Given the description of an element on the screen output the (x, y) to click on. 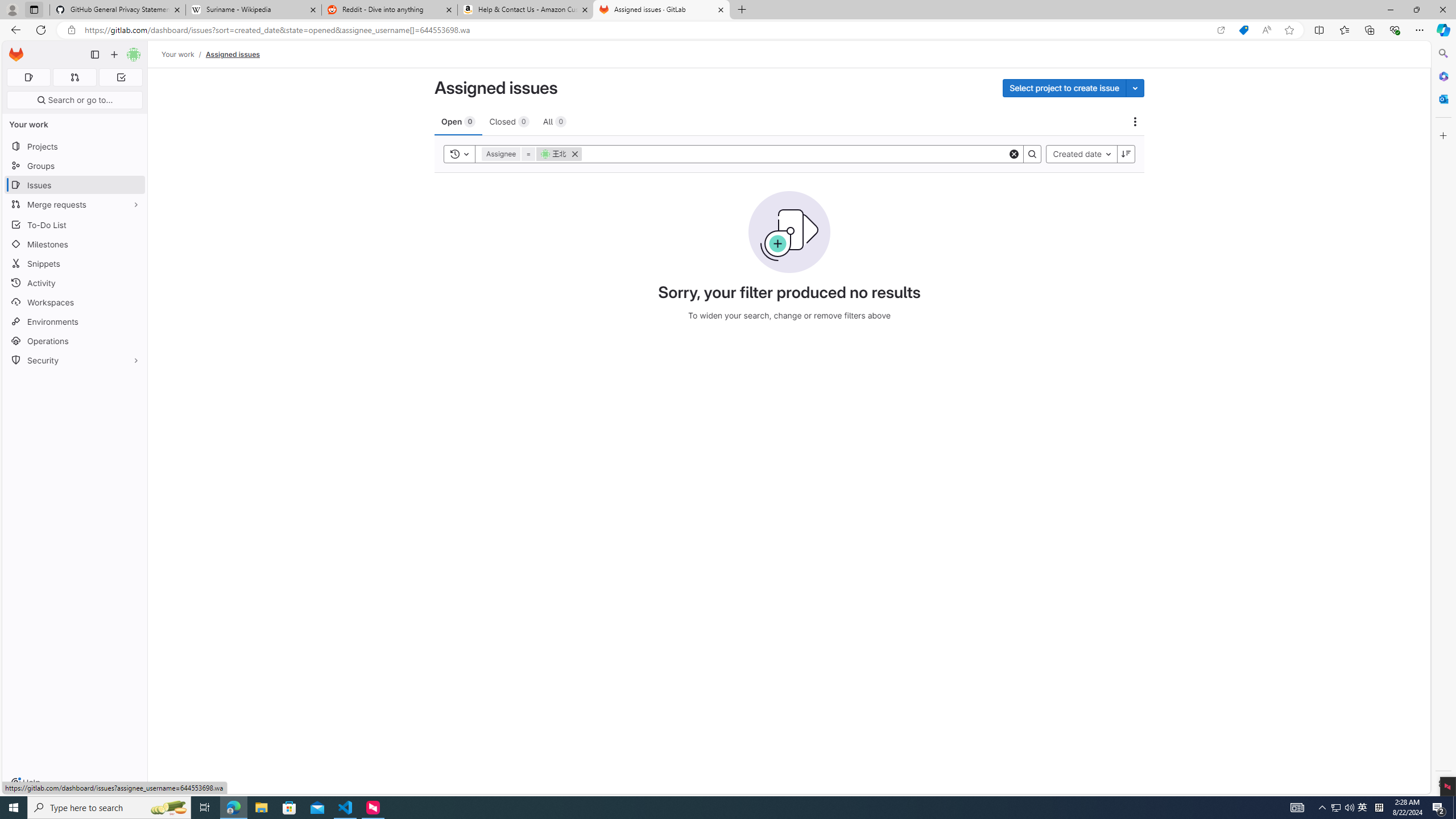
Open 0 (458, 121)
Toggle project select (1134, 87)
Operations (74, 340)
All 0 (554, 121)
Projects (74, 145)
